Given the description of an element on the screen output the (x, y) to click on. 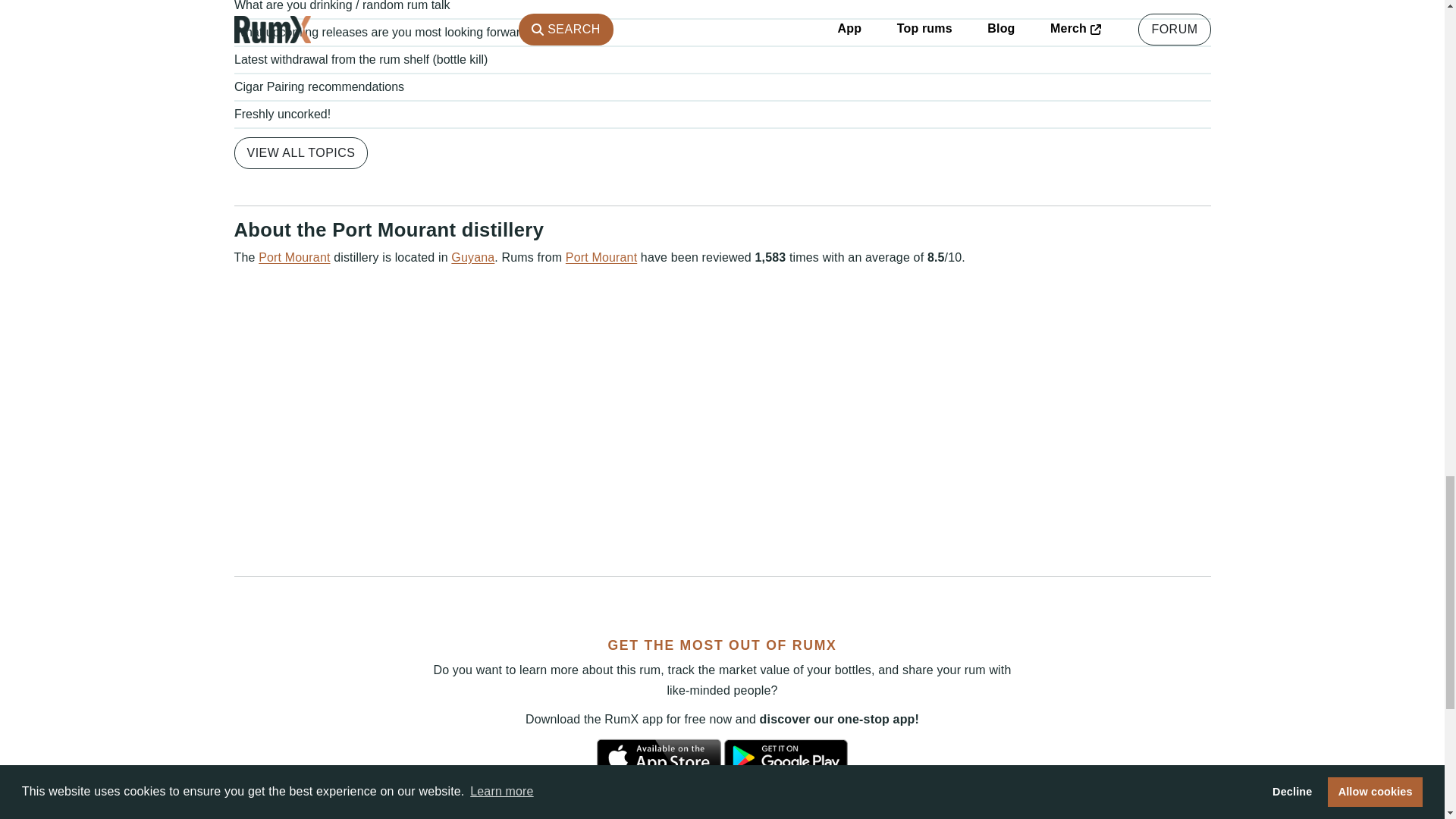
Port Mourant (294, 256)
Guyana (473, 256)
VIEW ALL TOPICS (300, 152)
Port Mourant (601, 256)
